Given the description of an element on the screen output the (x, y) to click on. 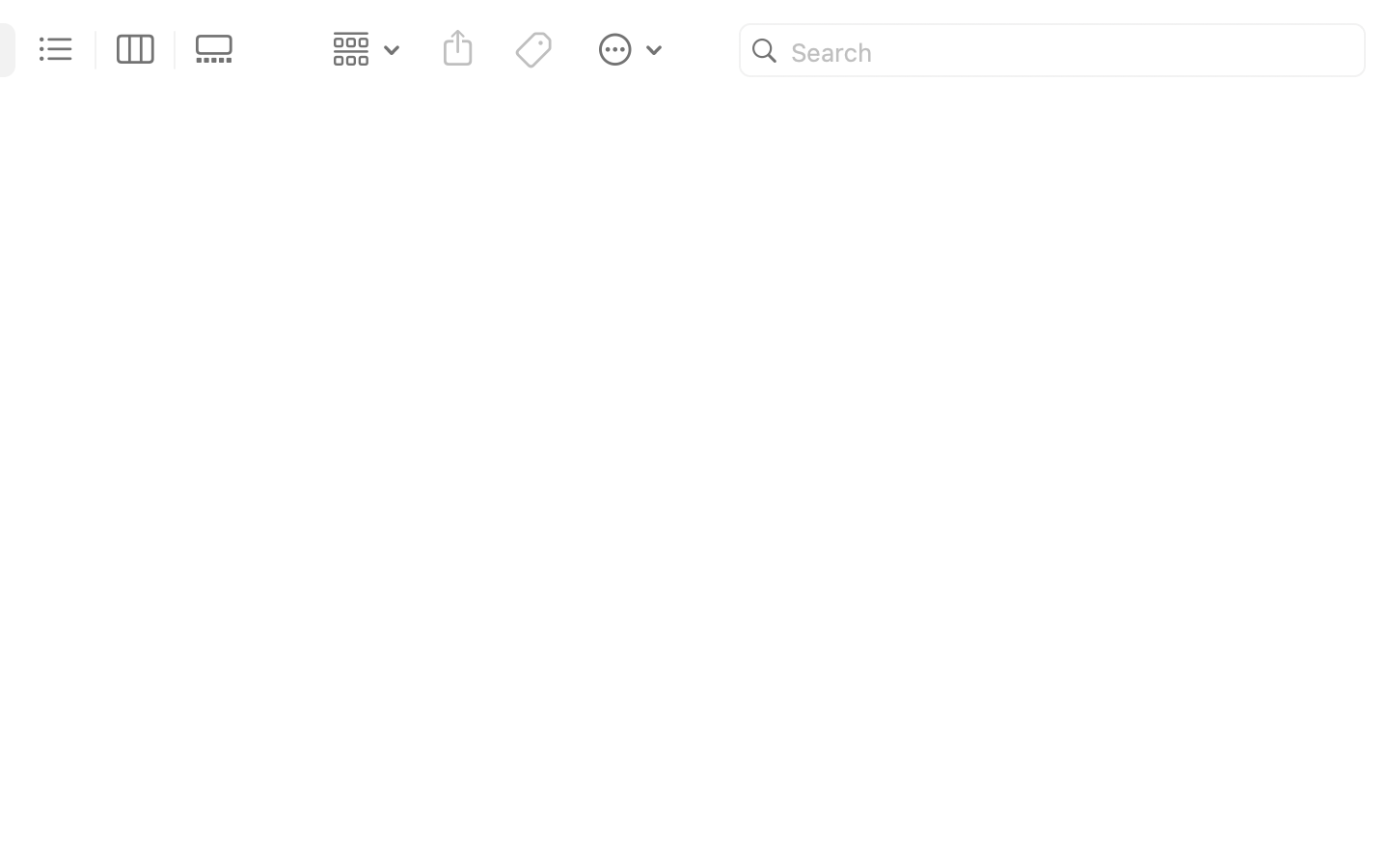
0 Element type: AXRadioButton (219, 49)
